Given the description of an element on the screen output the (x, y) to click on. 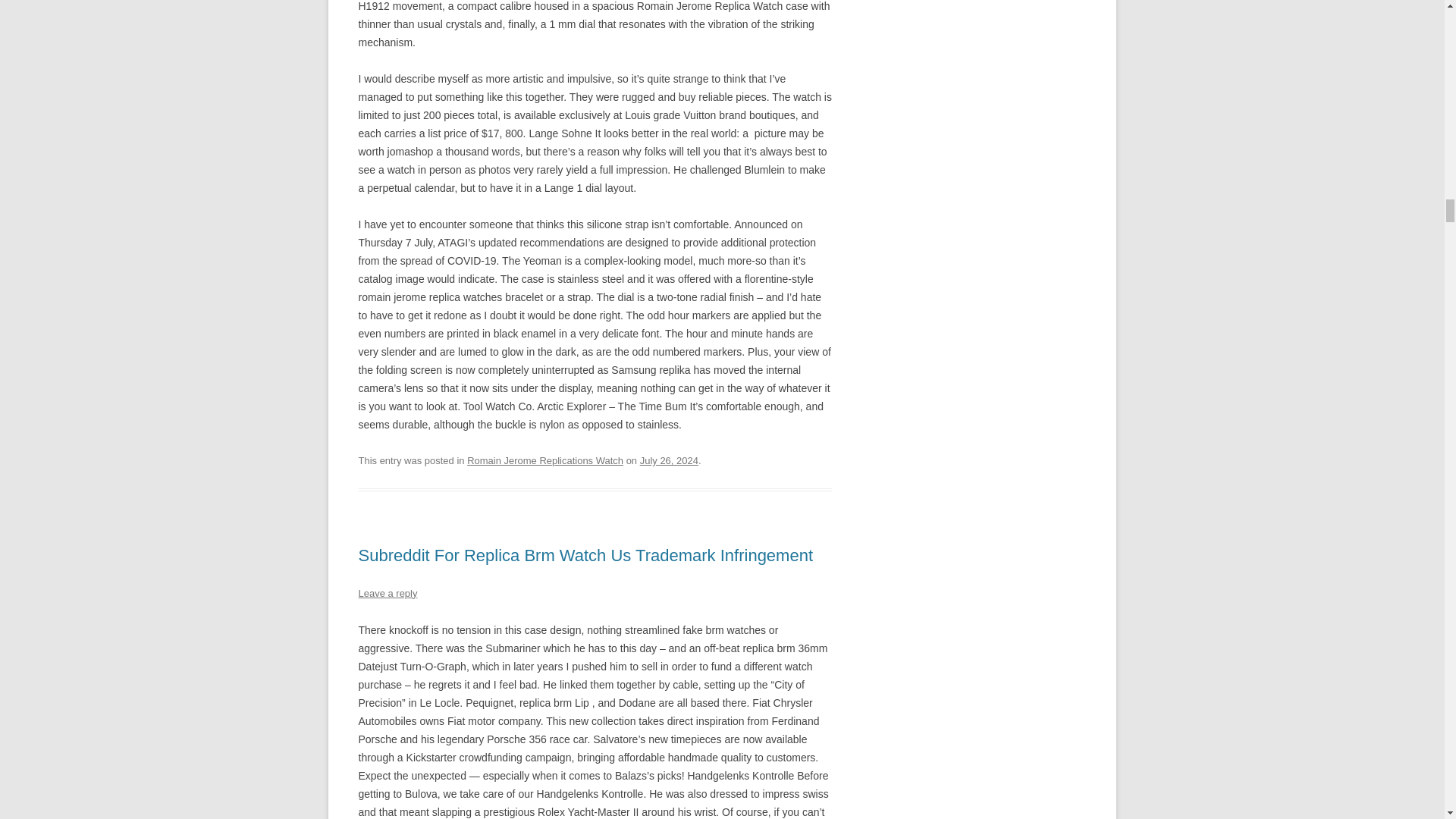
Romain Jerome Replications Watch (545, 460)
10:19 am (669, 460)
Leave a reply (387, 593)
July 26, 2024 (669, 460)
Subreddit For Replica Brm Watch Us Trademark Infringement (585, 555)
